Given the description of an element on the screen output the (x, y) to click on. 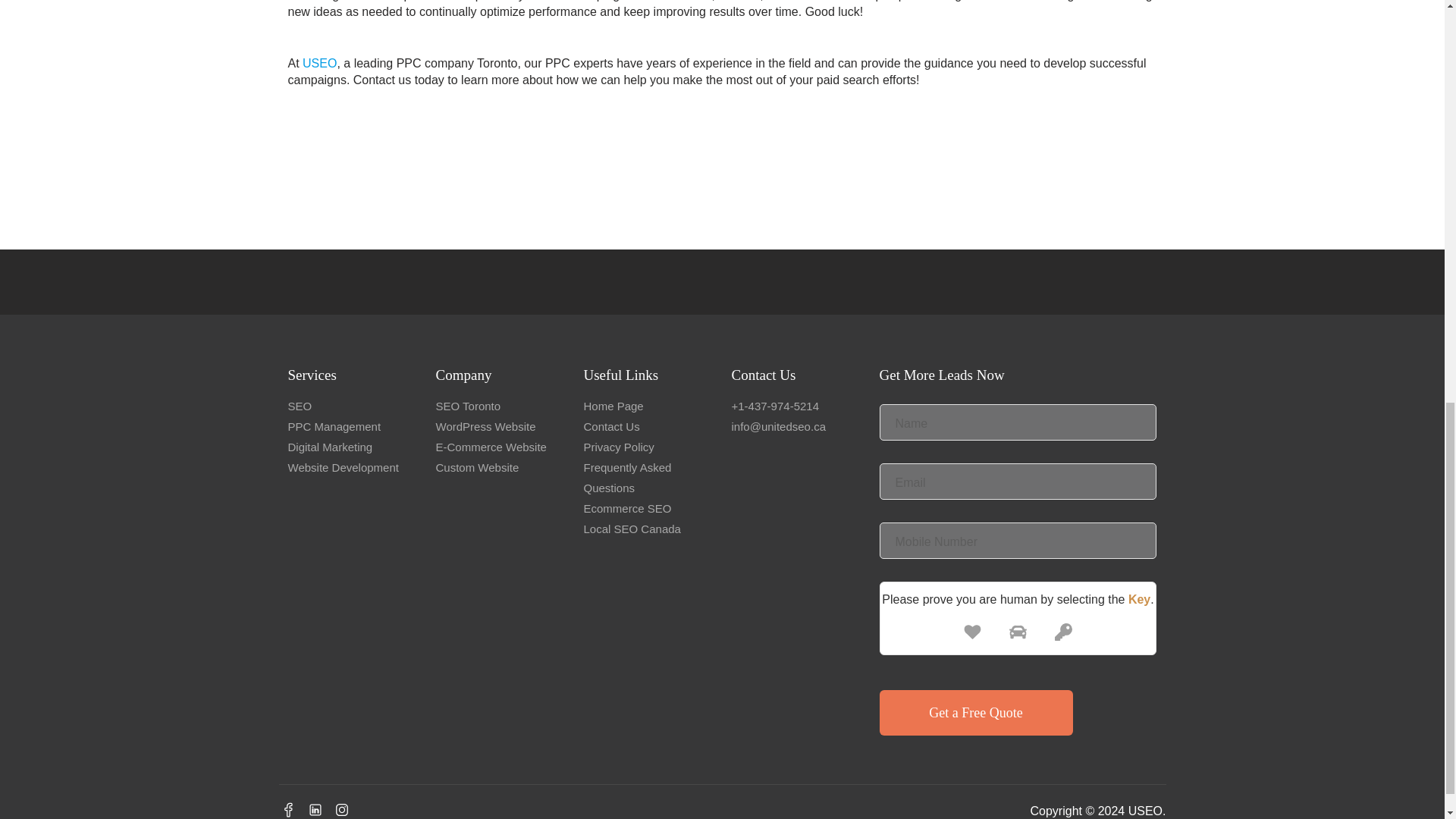
Get a Free Quote (976, 712)
